Given the description of an element on the screen output the (x, y) to click on. 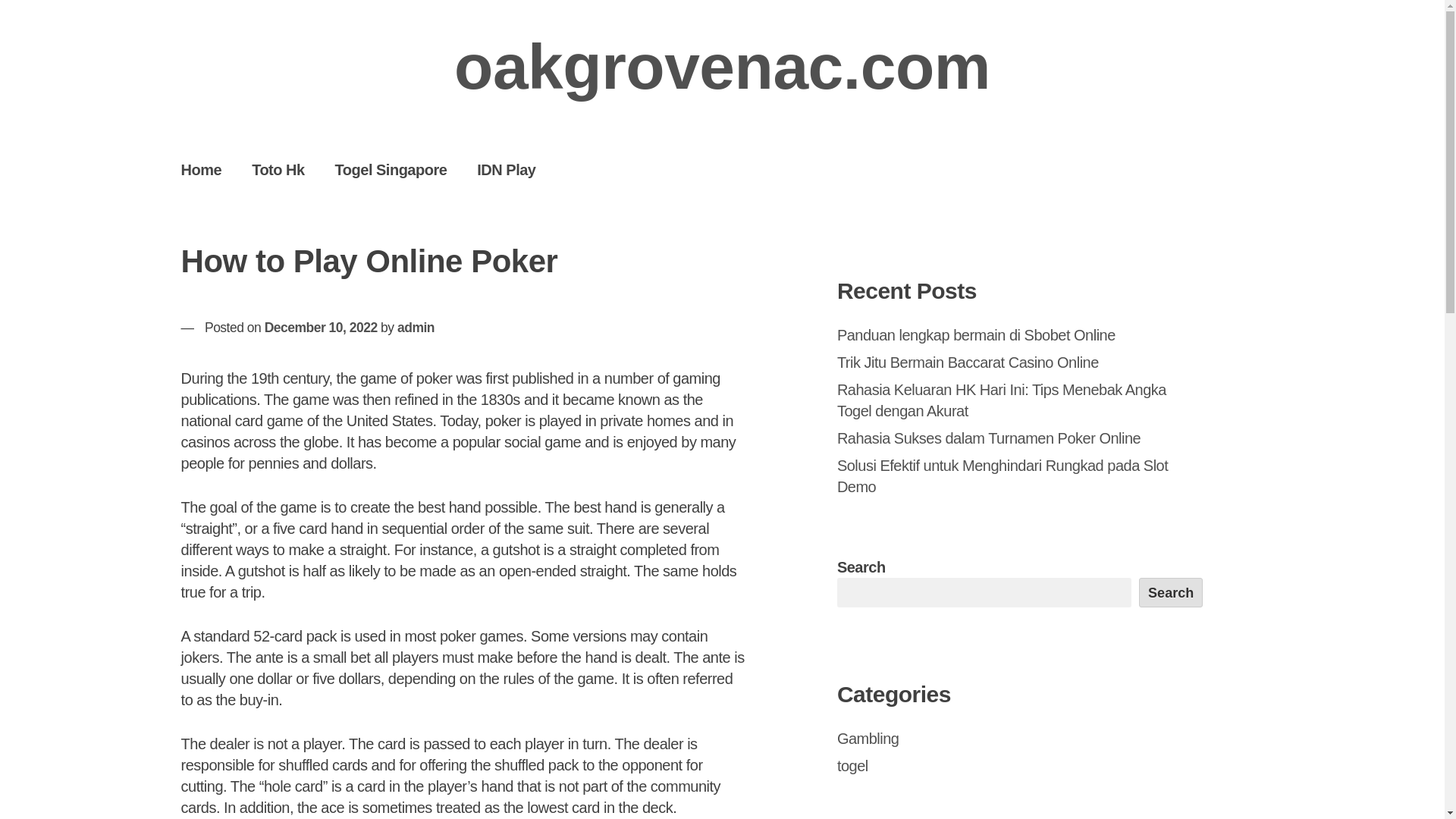
Trik Jitu Bermain Baccarat Casino Online (968, 362)
Togel Singapore (391, 169)
Gambling (868, 738)
Solusi Efektif untuk Menghindari Rungkad pada Slot Demo (1002, 476)
December 10, 2022 (320, 327)
Panduan lengkap bermain di Sbobet Online (976, 334)
oakgrovenac.com (722, 66)
IDN Play (505, 169)
Rahasia Sukses dalam Turnamen Poker Online (988, 437)
